Given the description of an element on the screen output the (x, y) to click on. 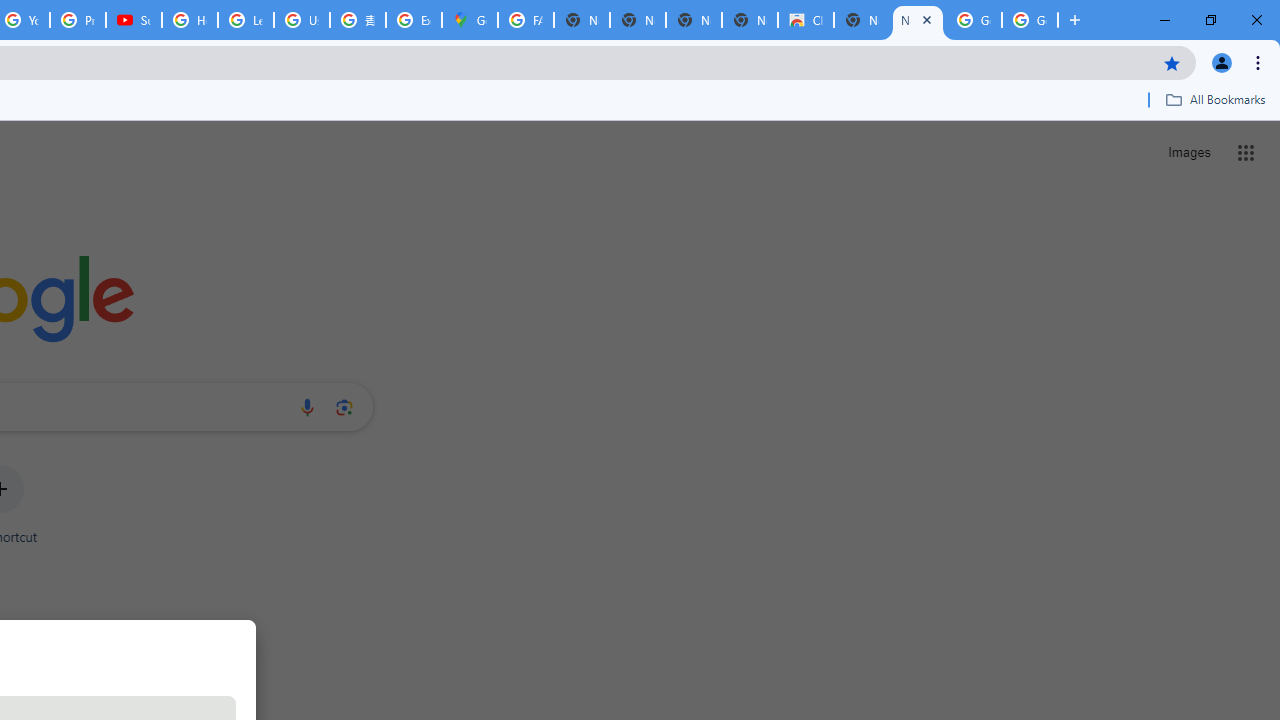
Google Images (973, 20)
How Chrome protects your passwords - Google Chrome Help (189, 20)
Google Maps (469, 20)
New Tab (917, 20)
Chrome Web Store (806, 20)
Subscriptions - YouTube (134, 20)
Explore new street-level details - Google Maps Help (413, 20)
